Given the description of an element on the screen output the (x, y) to click on. 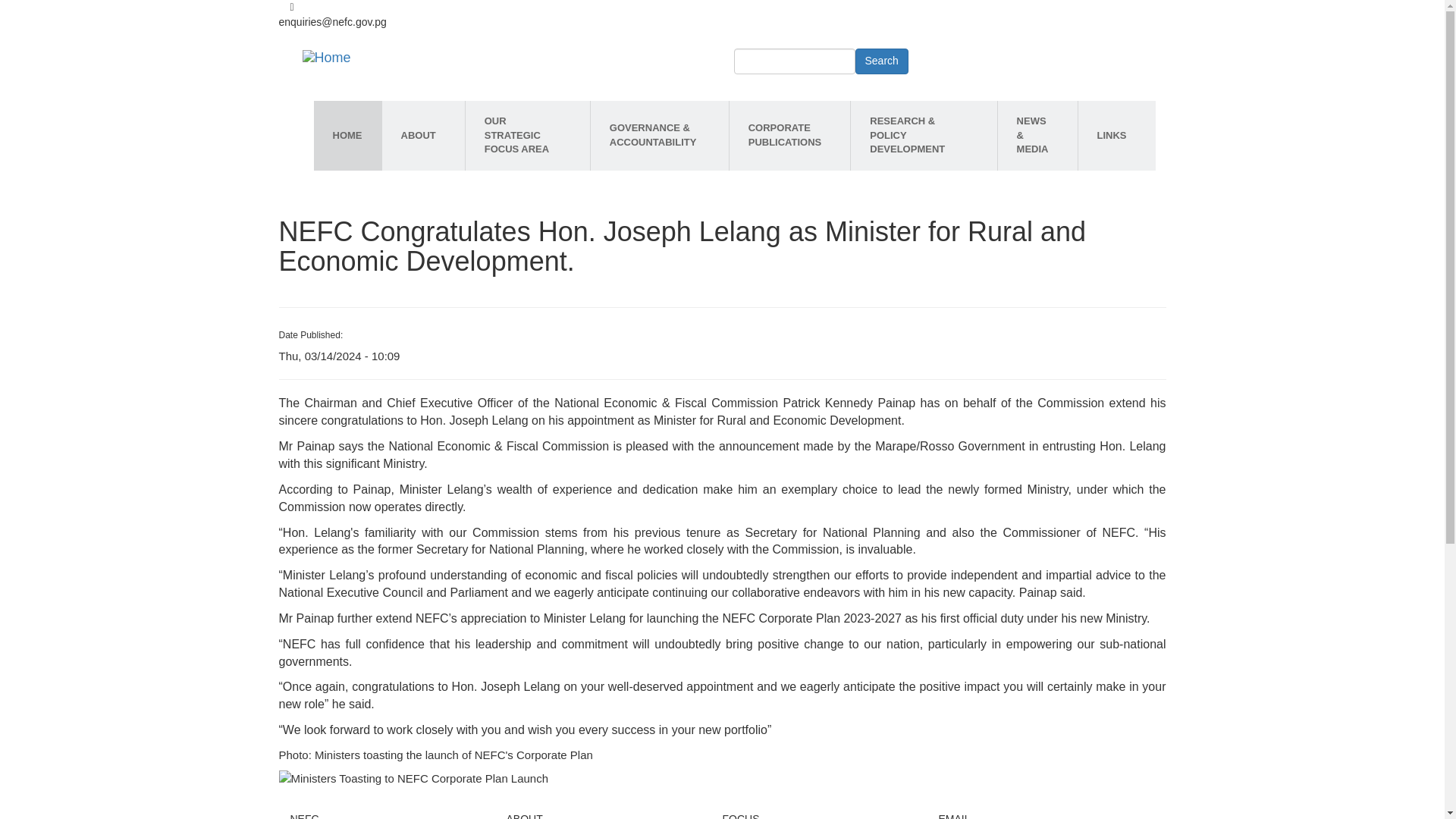
OUR STRATEGIC FOCUS AREA (527, 135)
Search (882, 61)
Home (326, 57)
HOME (347, 135)
Skip to main content (721, 1)
ABOUT (422, 135)
CORPORATE PUBLICATIONS (789, 135)
Enter the terms you wish to search for. (794, 61)
